Given the description of an element on the screen output the (x, y) to click on. 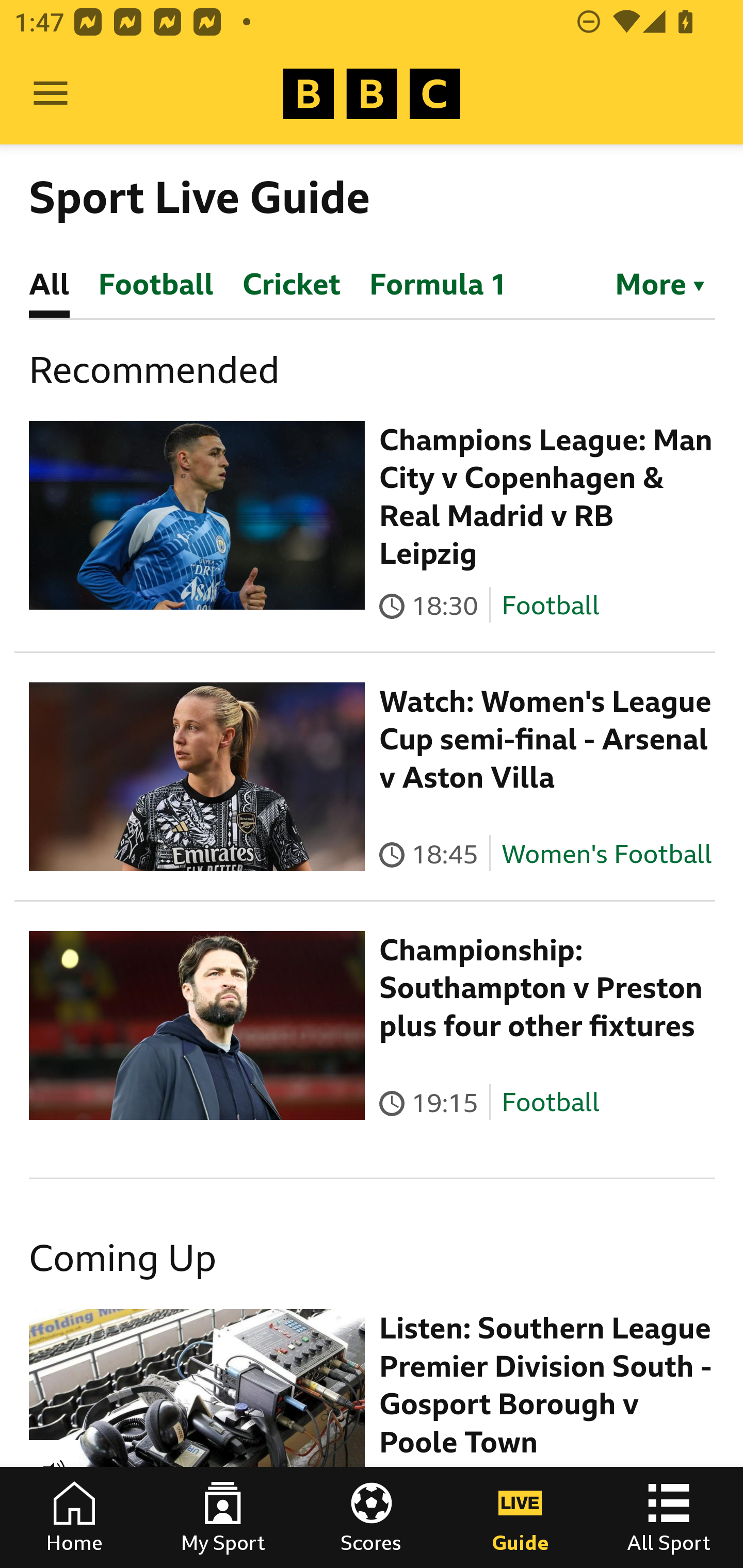
Open Menu (50, 93)
Football (550, 604)
Women's Football (606, 853)
Football (550, 1102)
Home (74, 1517)
My Sport (222, 1517)
Scores (371, 1517)
All Sport (668, 1517)
